Given the description of an element on the screen output the (x, y) to click on. 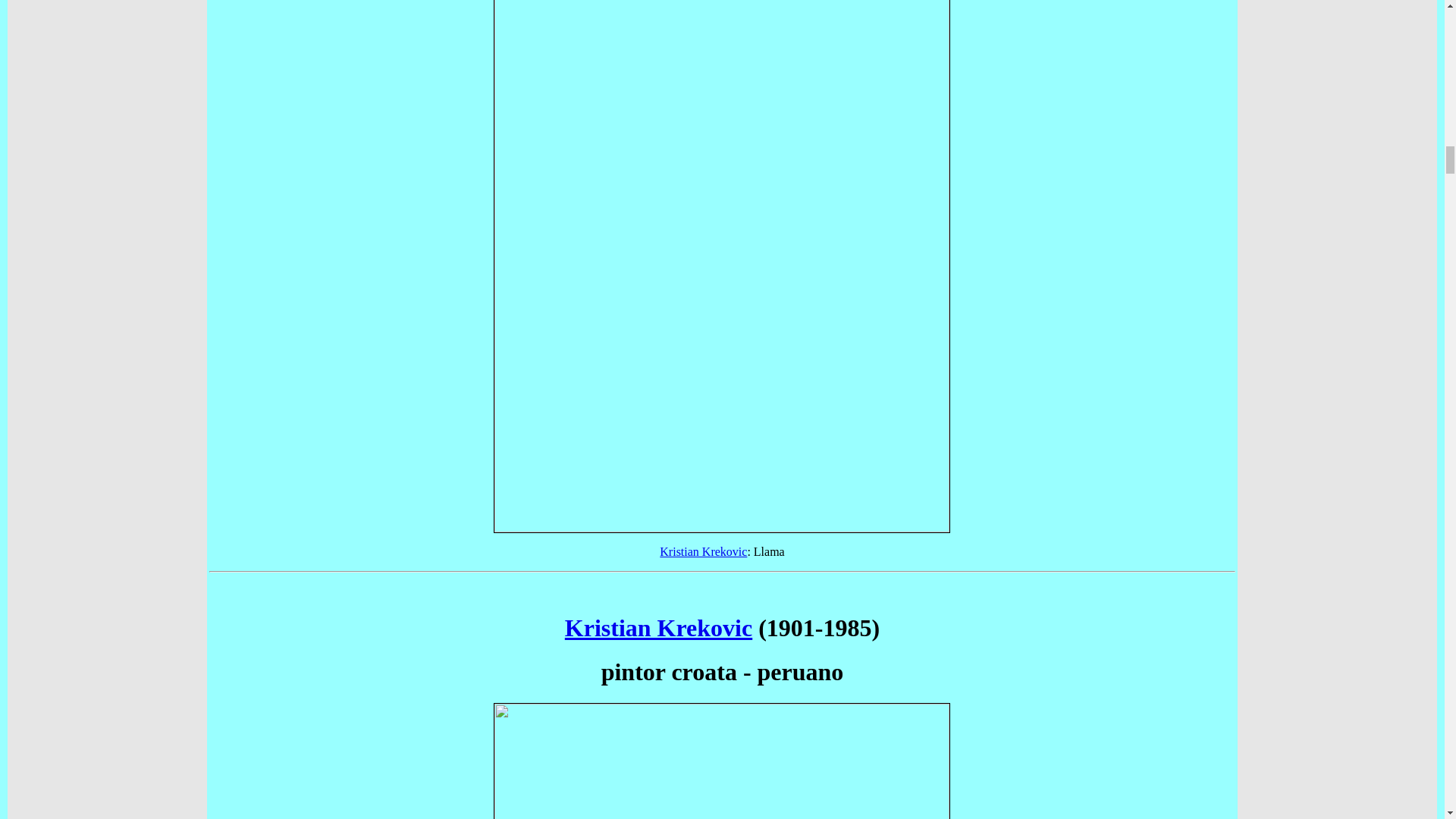
Kristian Krekovic (702, 551)
Kristian Krekovic (658, 627)
